Given the description of an element on the screen output the (x, y) to click on. 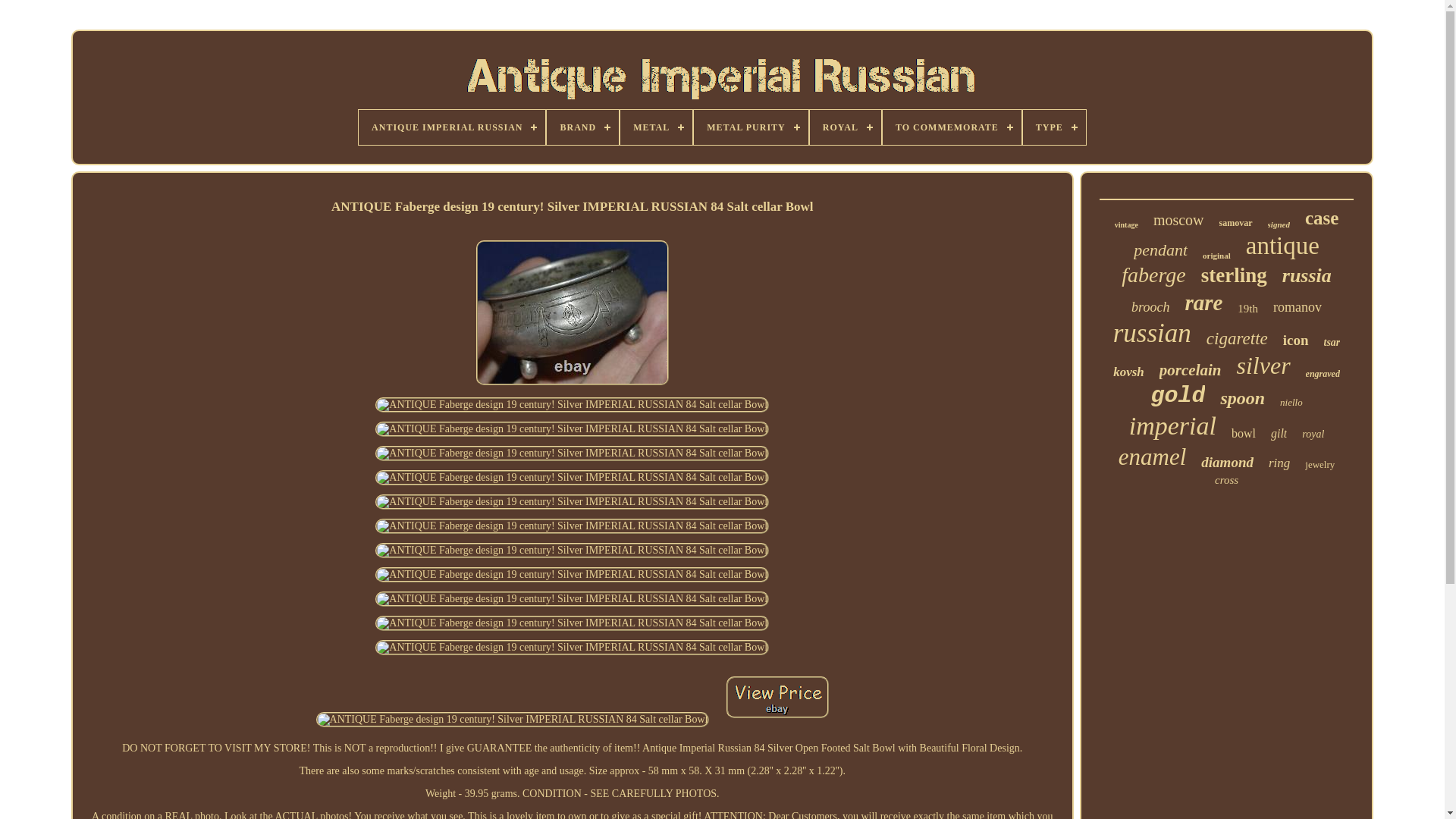
BRAND (582, 126)
ANTIQUE IMPERIAL RUSSIAN (451, 126)
METAL (656, 126)
